Given the description of an element on the screen output the (x, y) to click on. 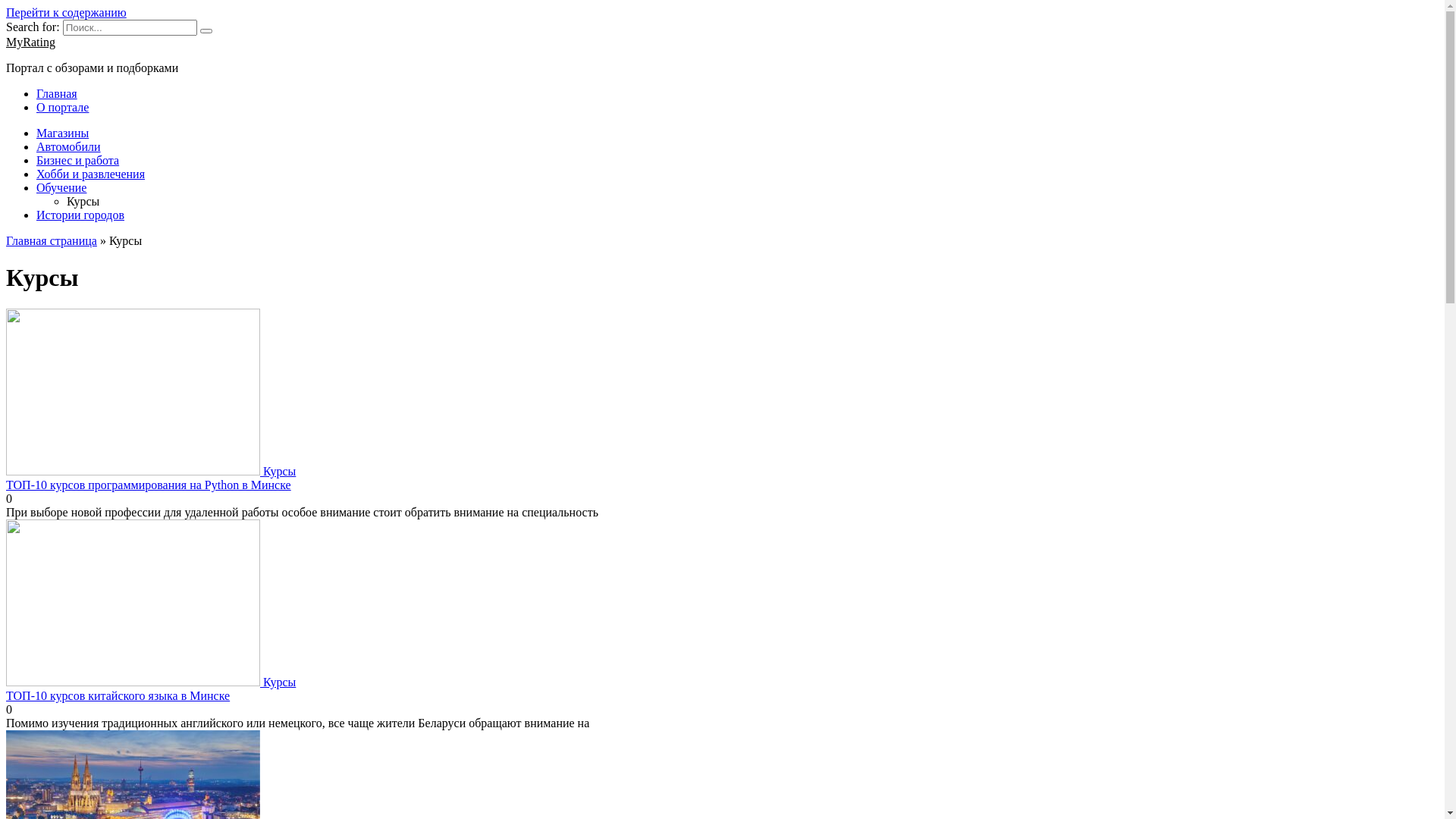
MyRating Element type: text (30, 41)
